Given the description of an element on the screen output the (x, y) to click on. 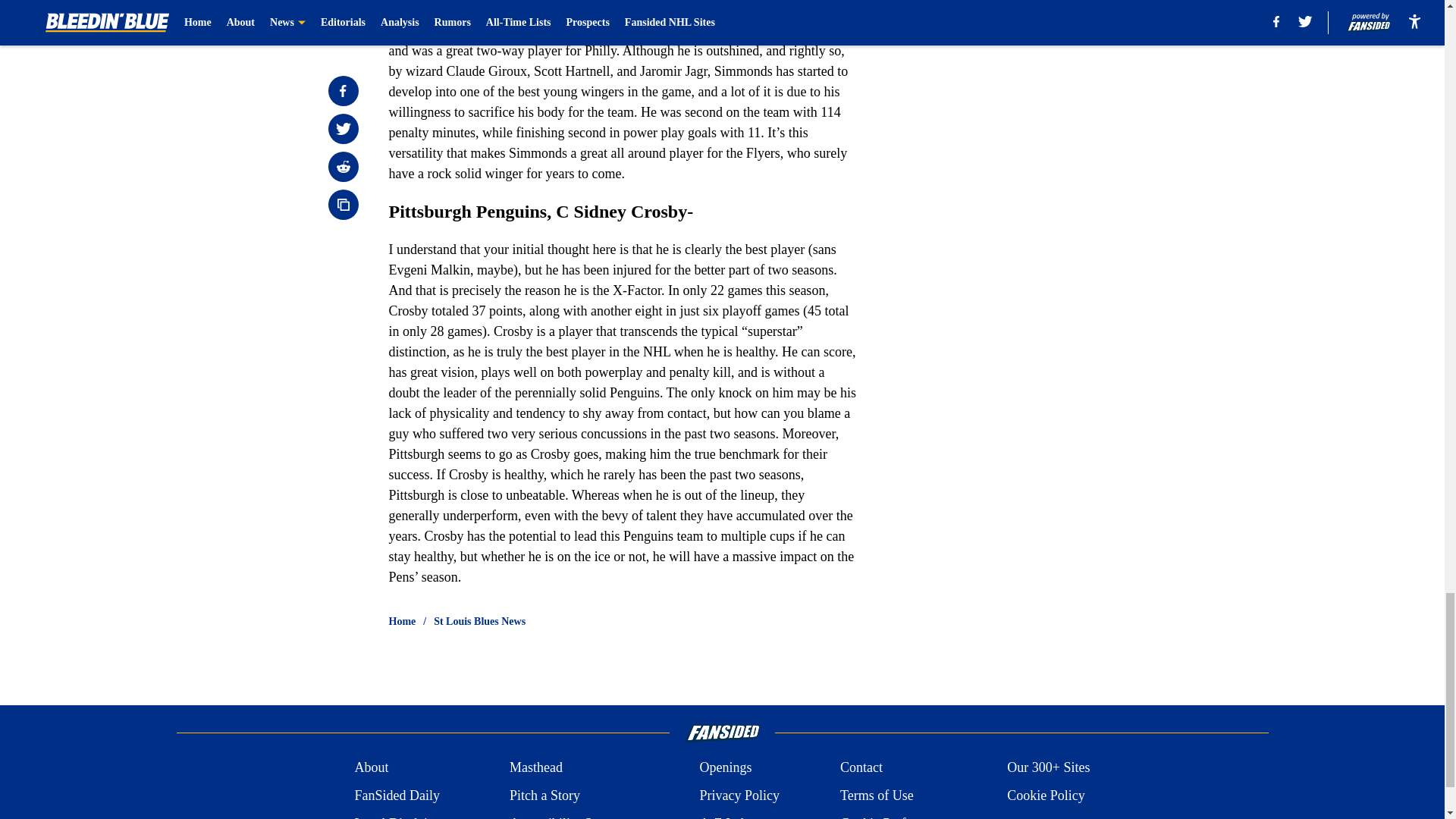
Pitch a Story (544, 795)
Contact (861, 767)
About (370, 767)
Privacy Policy (738, 795)
St Louis Blues News (479, 621)
A-Z Index (726, 816)
Openings (724, 767)
Accessibility Statement (574, 816)
Legal Disclaimer (400, 816)
Masthead (535, 767)
Terms of Use (877, 795)
Home (401, 621)
FanSided Daily (396, 795)
Cookie Policy (1045, 795)
Cookie Preferences (893, 816)
